Given the description of an element on the screen output the (x, y) to click on. 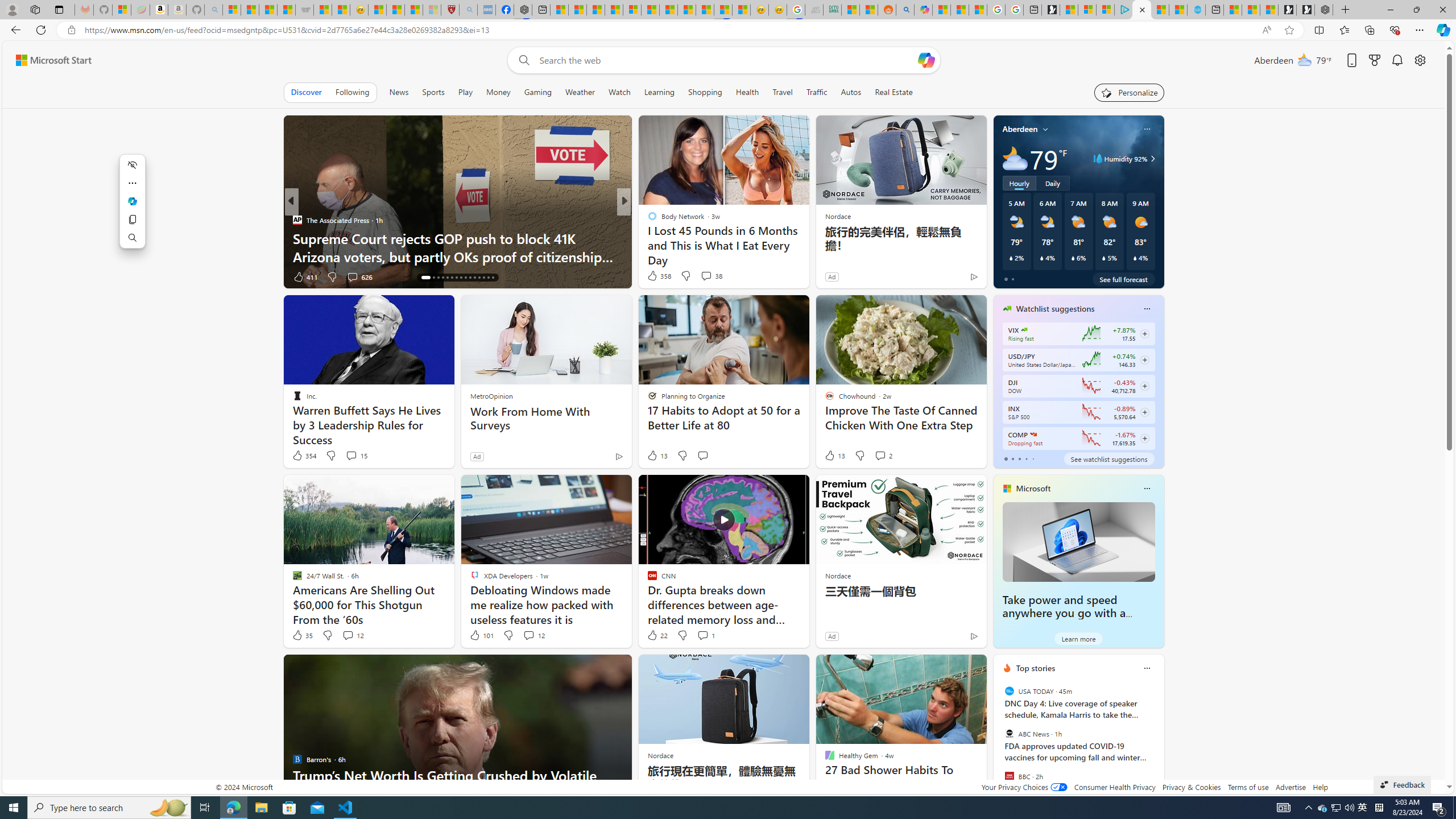
400 Like (654, 276)
13 Like (834, 455)
Autos (850, 92)
View comments 12 Comment (528, 635)
View comments 4 Comment (702, 276)
Microsoft Copilot in Bing (923, 9)
AutomationID: tab-22 (456, 277)
tab-3 (1025, 458)
